Given the description of an element on the screen output the (x, y) to click on. 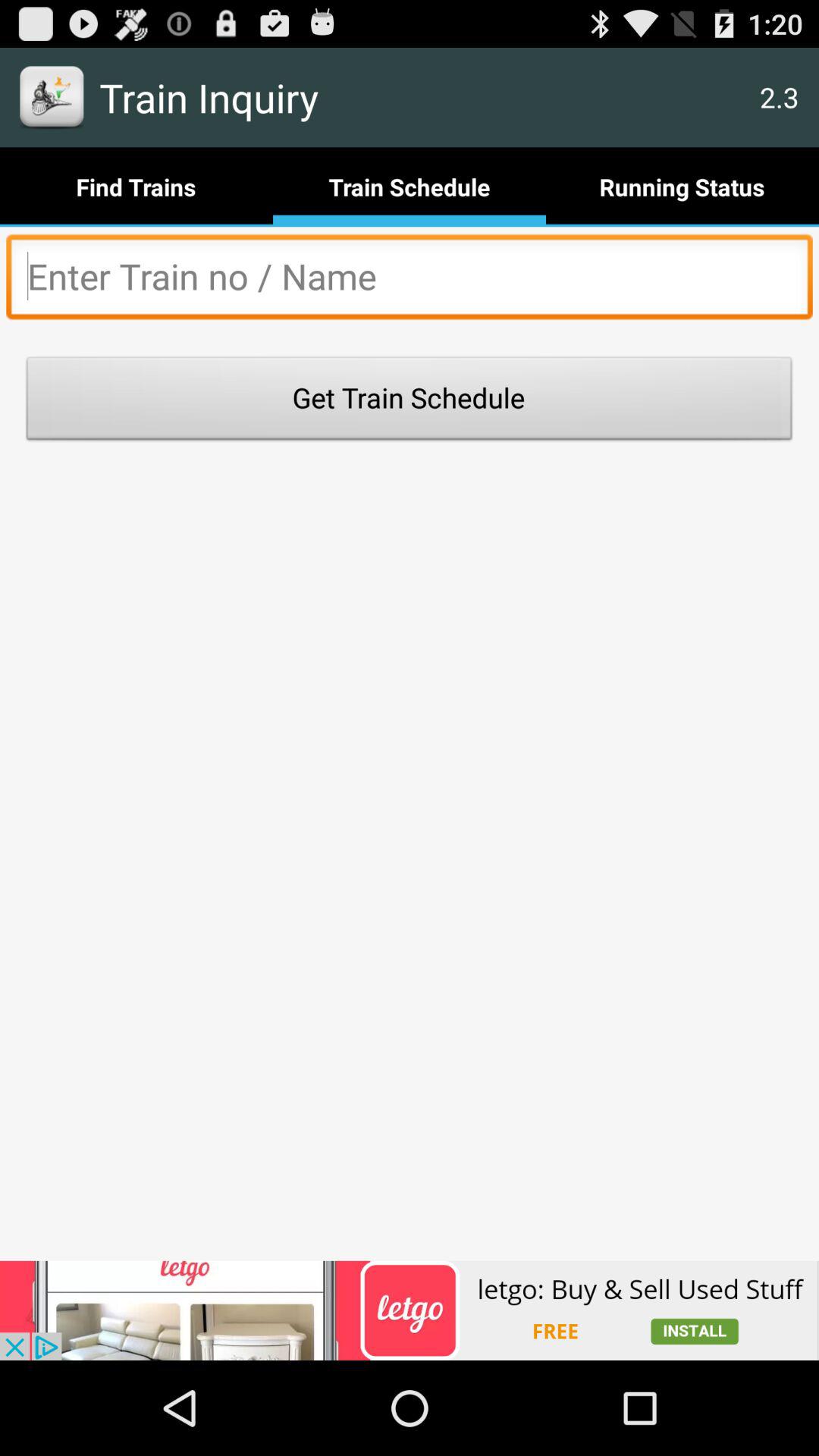
go to advertisement (409, 280)
